Given the description of an element on the screen output the (x, y) to click on. 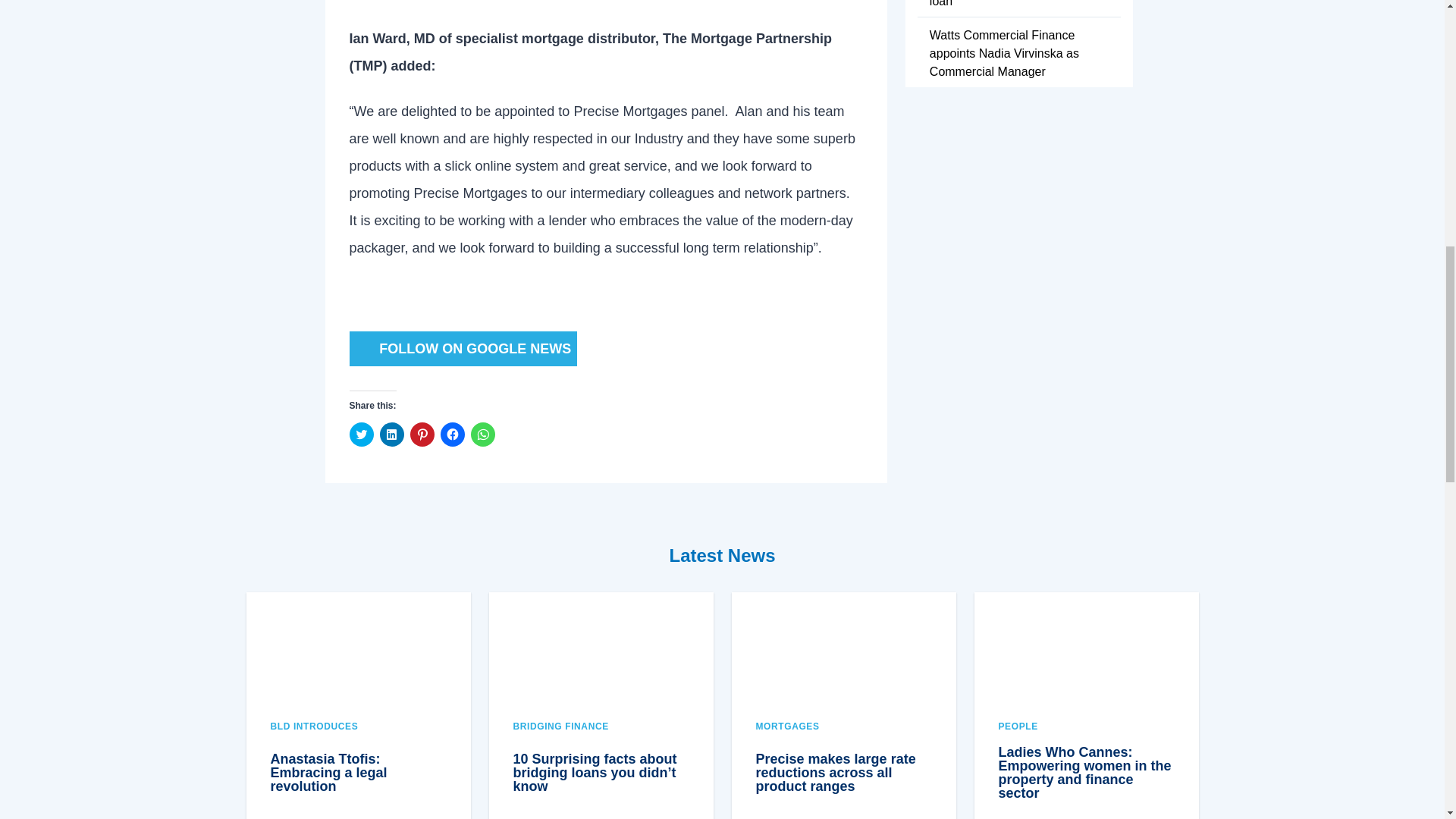
Click to share on WhatsApp (482, 434)
Click to share on Twitter (360, 434)
Click to share on Facebook (451, 434)
Click to share on LinkedIn (390, 434)
Click to share on Pinterest (421, 434)
